Given the description of an element on the screen output the (x, y) to click on. 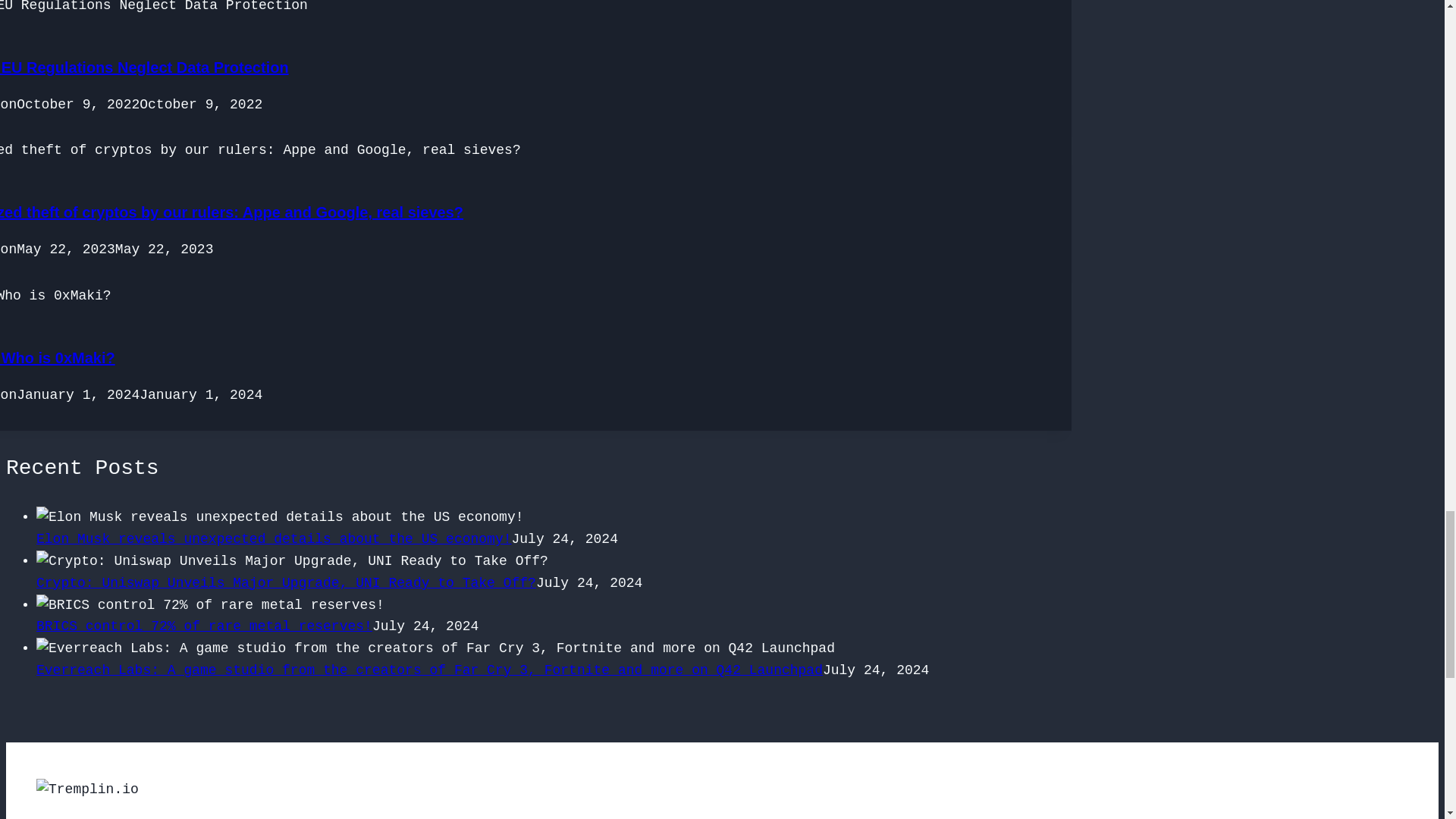
Elon Musk reveals unexpected details about the US economy! (274, 539)
Crypto: Who is 0xMaki? (57, 357)
Crypto: EU Regulations Neglect Data Protection (144, 67)
